Given the description of an element on the screen output the (x, y) to click on. 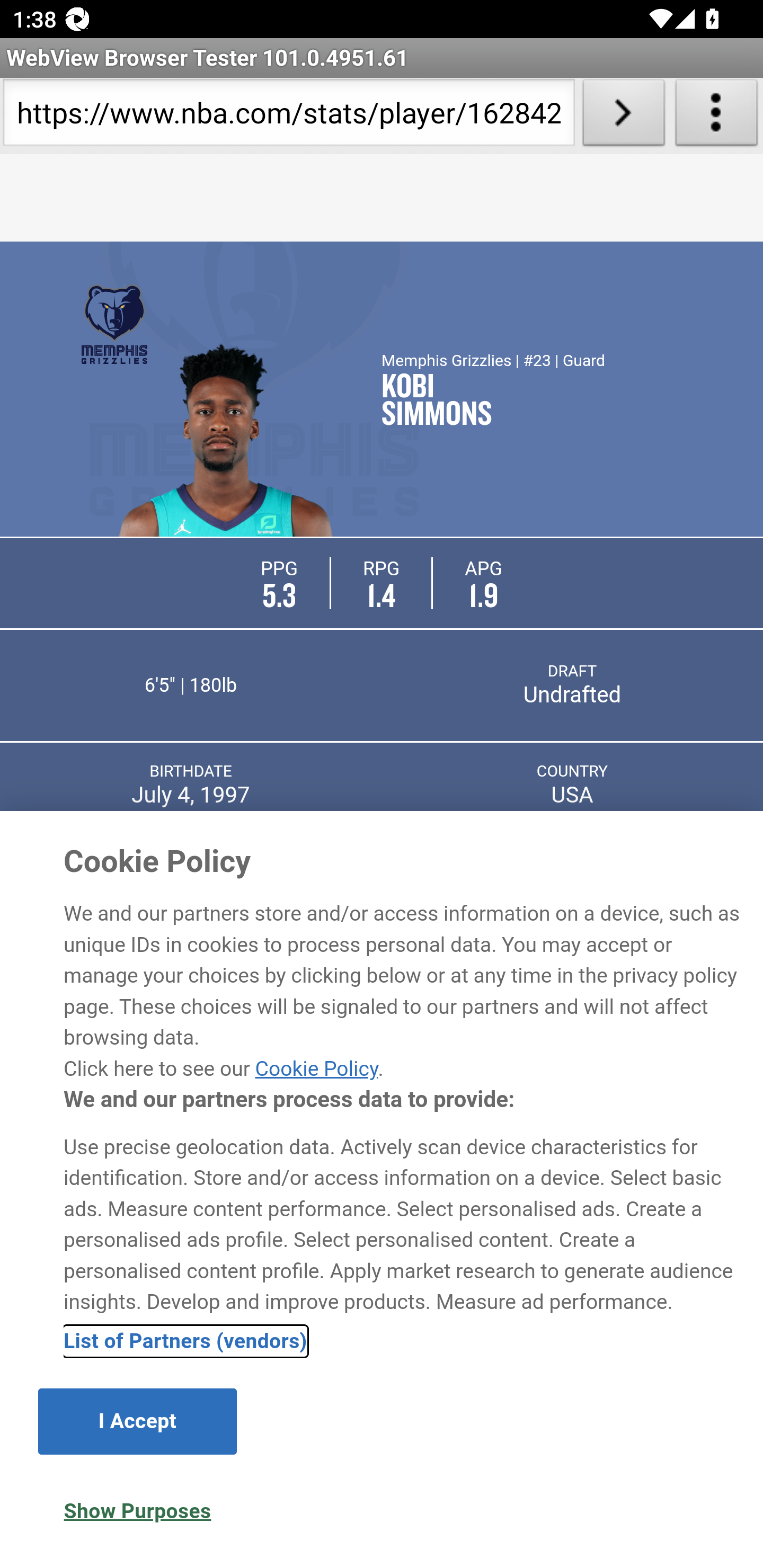
https://www.nba.com/stats/player/1628424 (288, 115)
Load URL (623, 115)
About WebView (716, 115)
Memphis Grizzlies Logo (114, 323)
Cookie Policy (316, 1068)
List of Partners (vendors) (185, 1340)
I Accept (137, 1421)
Show Purposes (137, 1511)
